Given the description of an element on the screen output the (x, y) to click on. 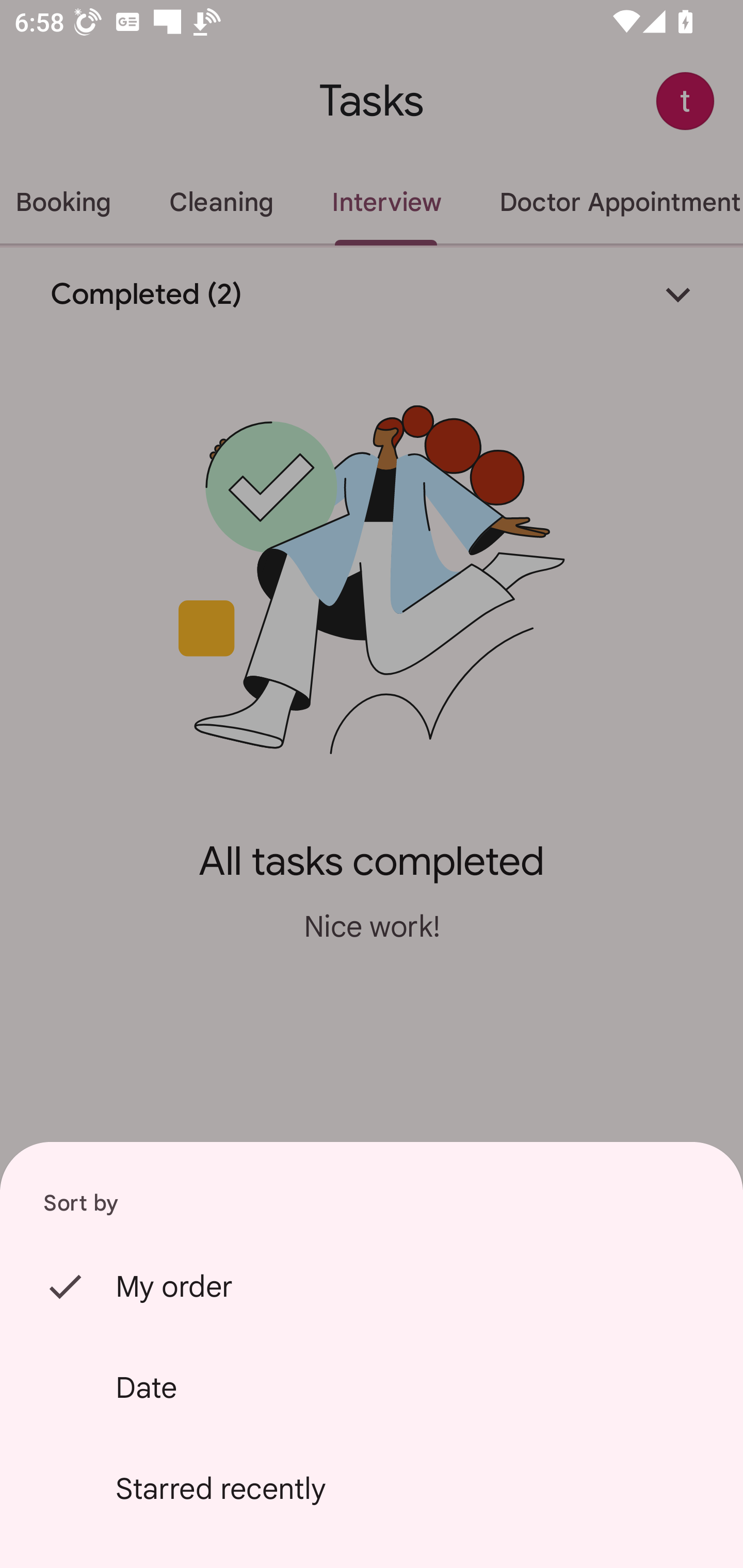
My order (371, 1286)
Date (371, 1387)
Starred recently (371, 1488)
